Given the description of an element on the screen output the (x, y) to click on. 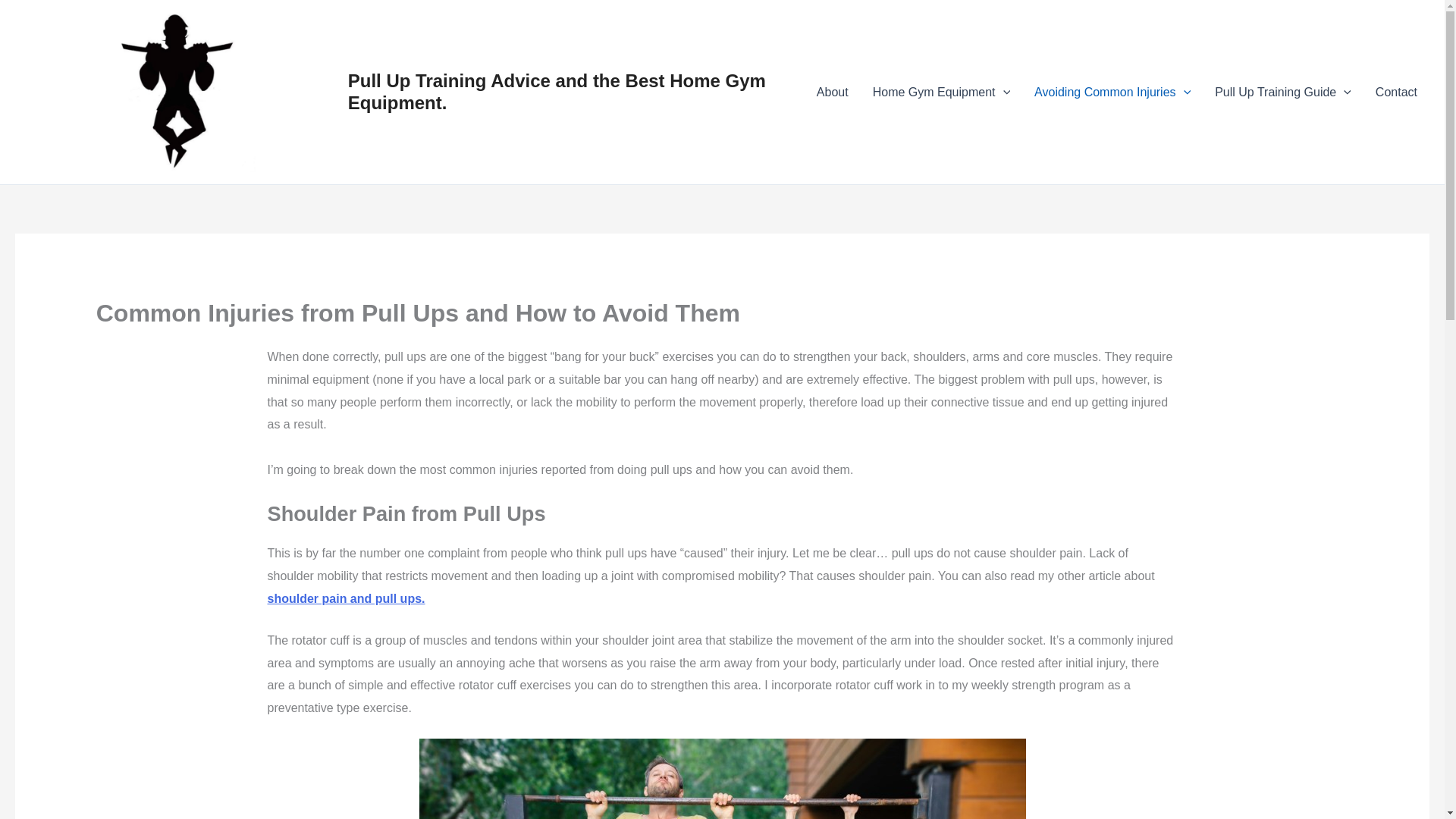
Home Gym Equipment (941, 92)
shoulder pain and pull ups. (345, 598)
Avoiding Common Injuries (1112, 92)
Contact (1395, 92)
Pull Up Training Advice and the Best Home Gym Equipment. (556, 91)
Pull Up Training Guide (1282, 92)
About (832, 92)
